Given the description of an element on the screen output the (x, y) to click on. 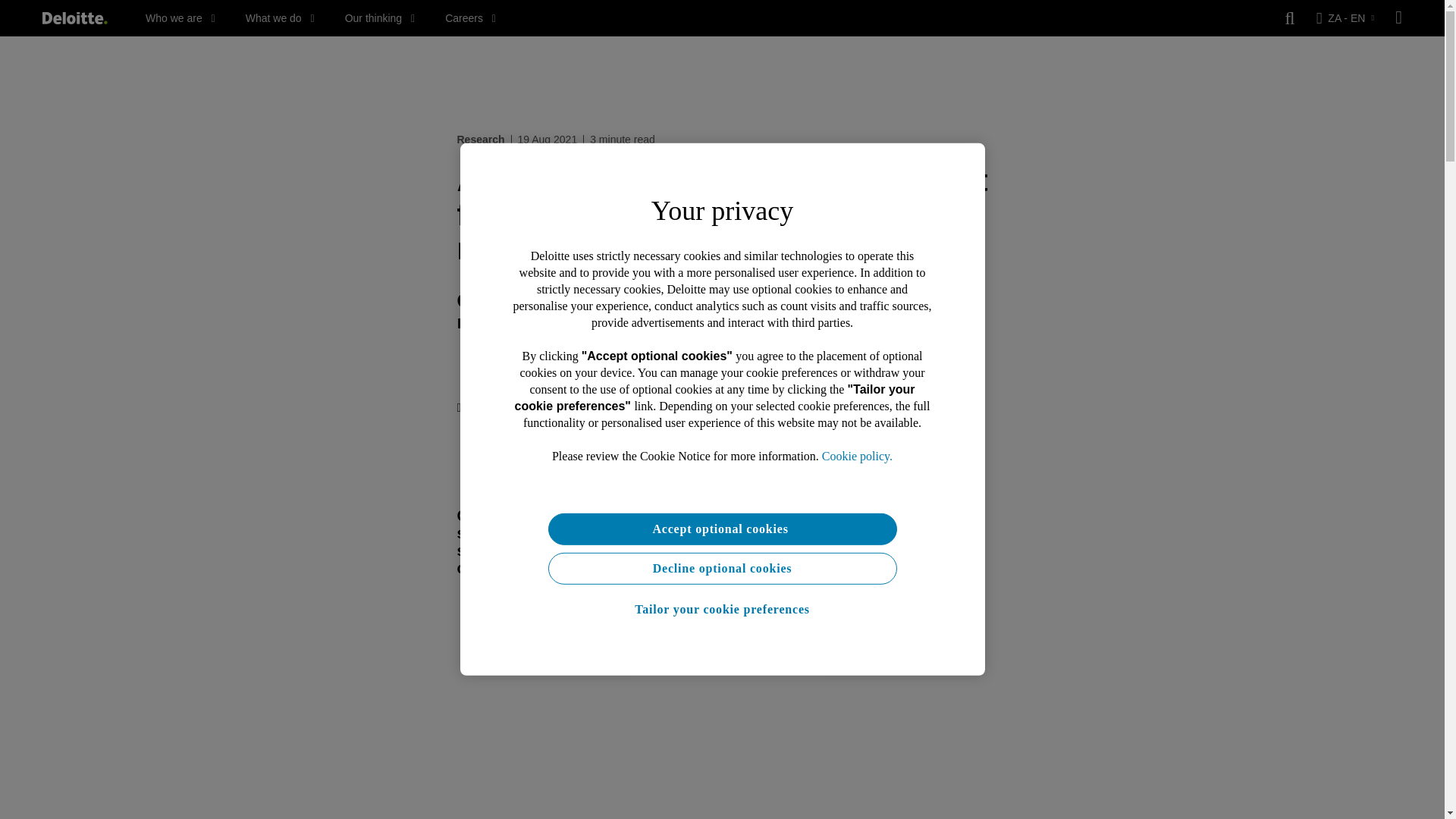
share via... (619, 407)
Who we are (180, 18)
Print (474, 407)
share via linkedin (588, 407)
share via facebook (528, 407)
Our thinking (379, 18)
Deloitte (74, 18)
What we do (280, 18)
Careers (470, 18)
share via twitter (558, 407)
